Given the description of an element on the screen output the (x, y) to click on. 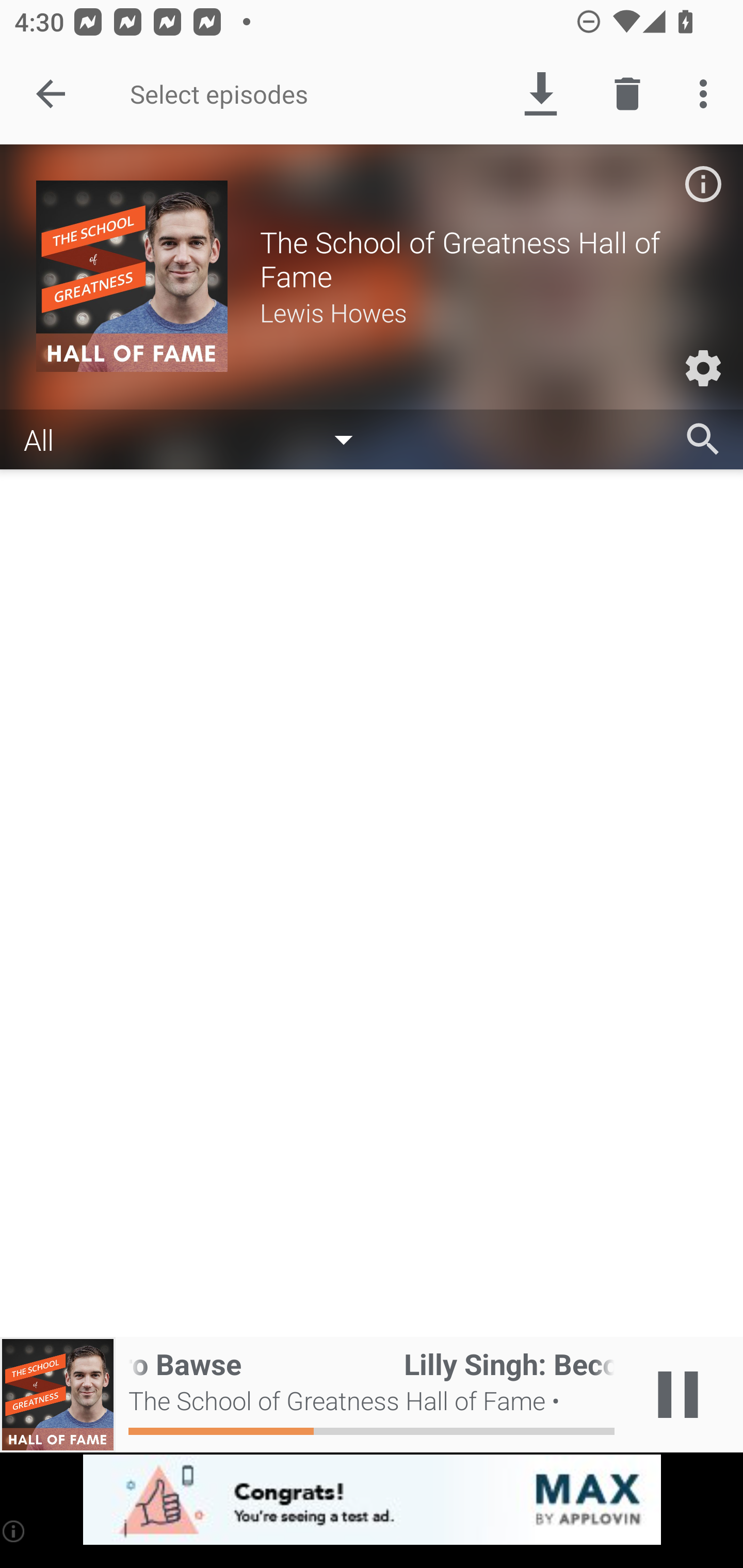
Done (50, 93)
Download (540, 93)
Delete episode (626, 93)
More options (706, 93)
Podcast description (703, 184)
Lewis Howes (483, 311)
Custom Settings (703, 368)
Search (703, 439)
All (197, 438)
Play / Pause (677, 1394)
app-monetization (371, 1500)
(i) (14, 1531)
